Given the description of an element on the screen output the (x, y) to click on. 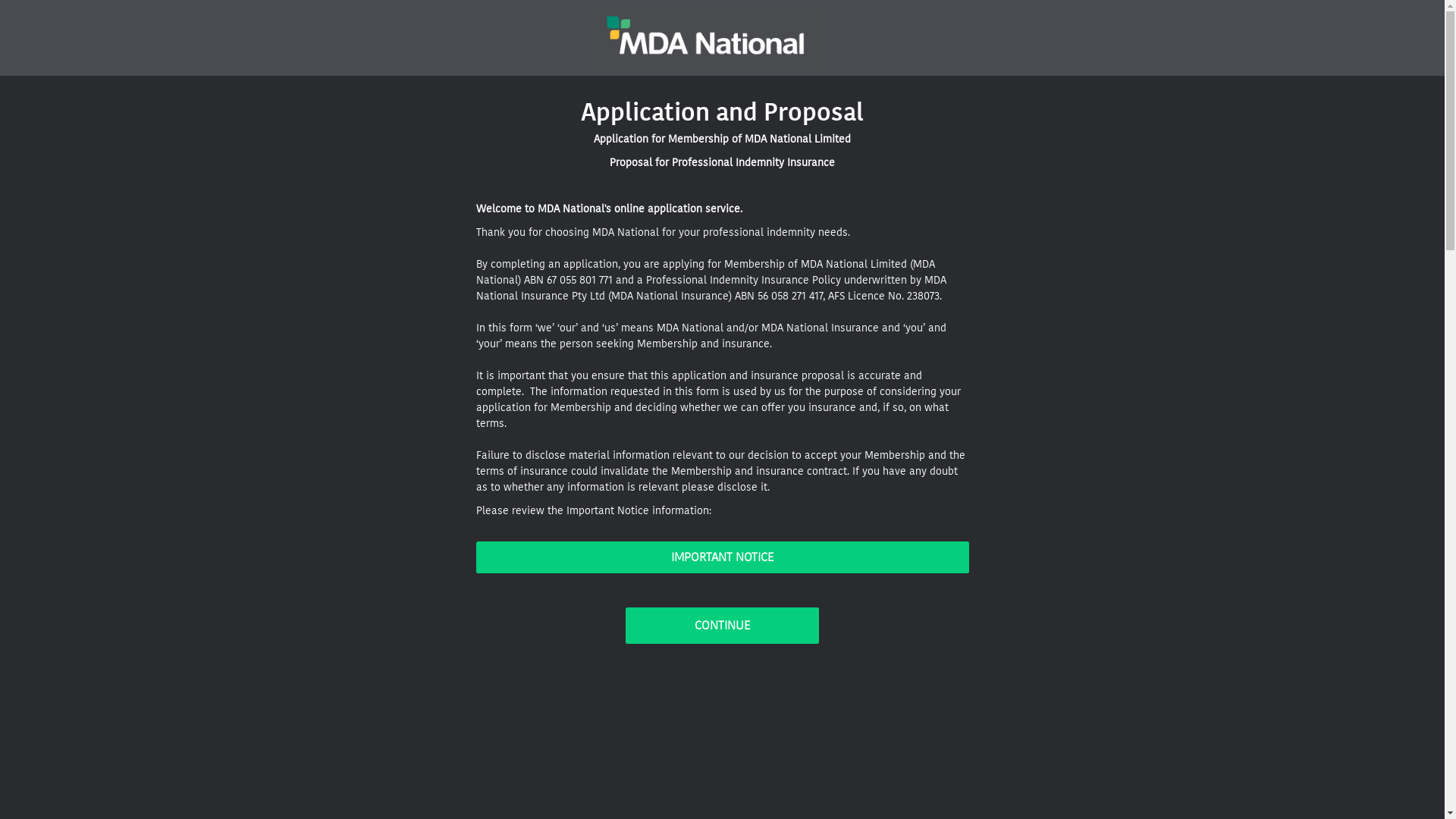
CONTINUE Element type: text (722, 625)
